Given the description of an element on the screen output the (x, y) to click on. 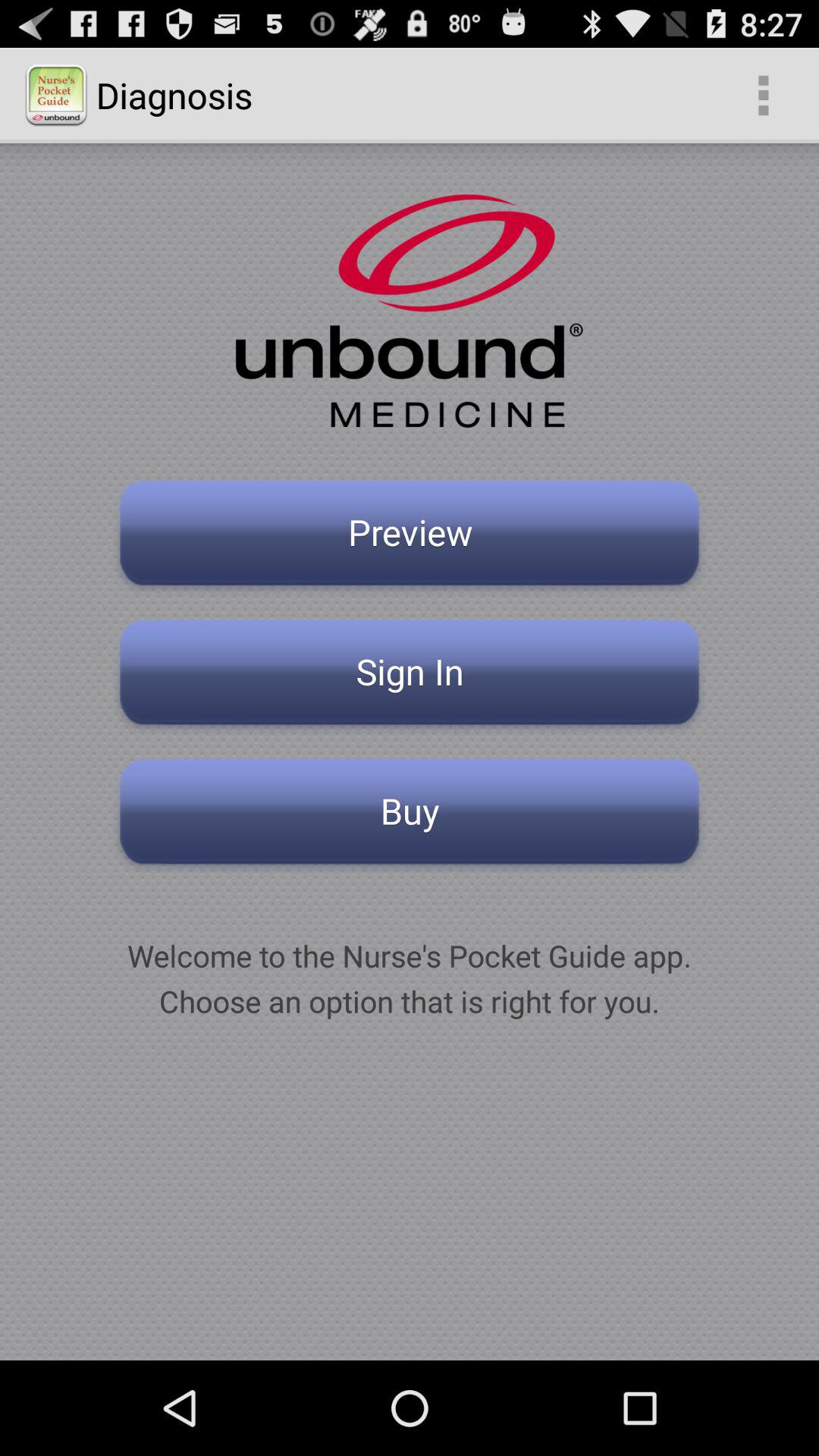
swipe to the preview button (409, 537)
